Given the description of an element on the screen output the (x, y) to click on. 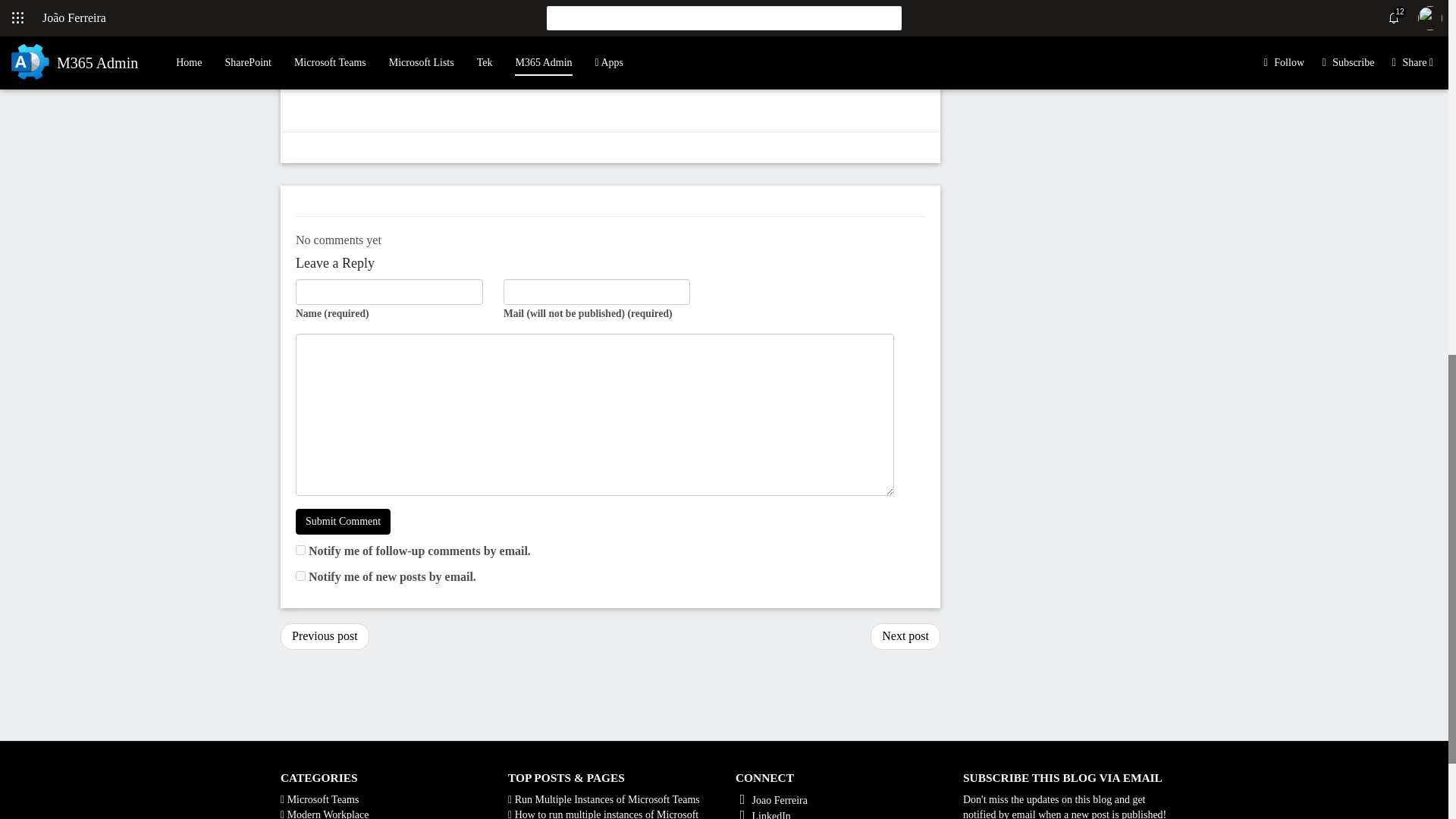
Submit Comment (342, 521)
Click to share on Twitter (307, 8)
Click to share on Facebook (335, 8)
subscribe (300, 550)
Previous post (325, 636)
Next post (905, 636)
subscribe (300, 575)
Migrate content from Box to Microsoft 365 (325, 636)
Changes to Microsoft To Do Support Experience (905, 636)
Submit Comment (342, 521)
